Given the description of an element on the screen output the (x, y) to click on. 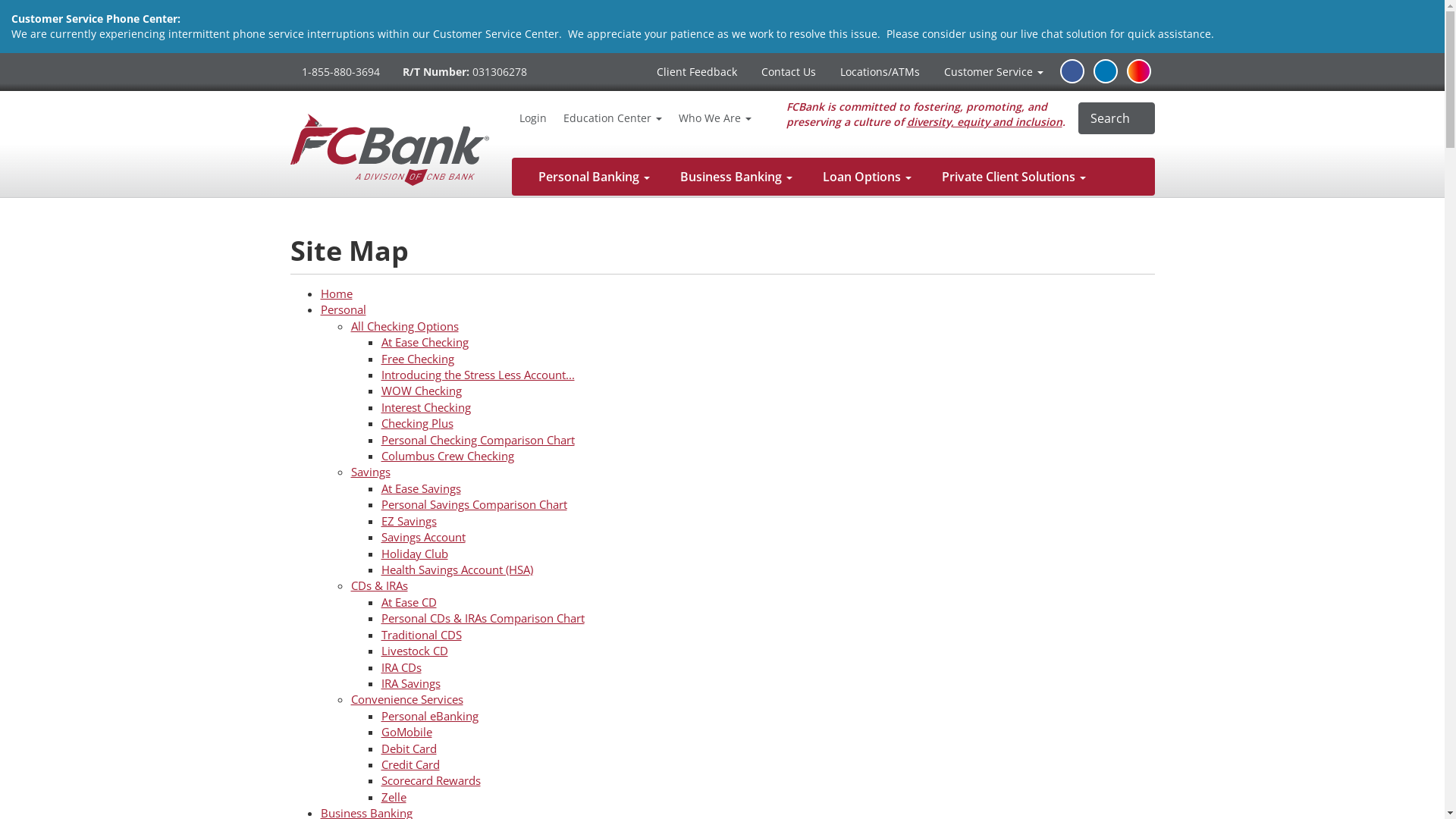
Login Element type: text (532, 118)
Loan Options Element type: text (866, 176)
Locations
Locations/ATMs Element type: text (879, 72)
Personal Savings Comparison Chart Element type: text (473, 503)
WOW Checking Element type: text (420, 390)
EZ Savings Element type: text (408, 520)
Traditional CDS Element type: text (420, 634)
Savings Account Element type: text (422, 536)
Free Checking Element type: text (416, 358)
GoMobile Element type: text (405, 731)
Livestock CD Element type: text (413, 650)
Personal Banking Element type: text (594, 176)
Instagram Element type: text (1138, 71)
Scorecard Rewards Element type: text (430, 779)
Columbus Crew Checking Element type: text (446, 455)
Savings Element type: text (369, 471)
Who We Are Element type: text (715, 118)
IRA CDs Element type: text (400, 666)
All Checking Options Element type: text (404, 325)
Education Center Element type: text (612, 118)
Health Savings Account (HSA) Element type: text (456, 569)
Business Banking Element type: text (736, 176)
IRA Savings Element type: text (409, 682)
At Ease CD Element type: text (408, 601)
Interest Checking Element type: text (425, 406)
Personal Element type: text (342, 308)
1-855-880-3694
1-855-880-3694 Element type: text (339, 72)
At Ease Checking Element type: text (423, 341)
Personal Checking Comparison Chart Element type: text (477, 439)
Contact Us
Contact Us Element type: text (787, 72)
At Ease Savings Element type: text (420, 487)
Customer Service
Customer Service Element type: text (993, 72)
Debit Card Element type: text (408, 748)
Client Feedback
Client Feedback Element type: text (695, 72)
Private Client Solutions Element type: text (1013, 176)
Zelle Element type: text (392, 796)
Convenience Services Element type: text (406, 698)
Checking Plus Element type: text (416, 422)
Introducing the Stress Less Account... Element type: text (477, 374)
CDs & IRAs Element type: text (378, 585)
Personal CDs & IRAs Comparison Chart Element type: text (481, 617)
Credit Card Element type: text (409, 763)
diversity, equity and inclusion Element type: text (984, 121)
Linked In Element type: text (1105, 71)
Personal eBanking Element type: text (428, 715)
Facebook Element type: text (1072, 71)
Holiday Club Element type: text (413, 553)
Home Element type: text (335, 293)
